Given the description of an element on the screen output the (x, y) to click on. 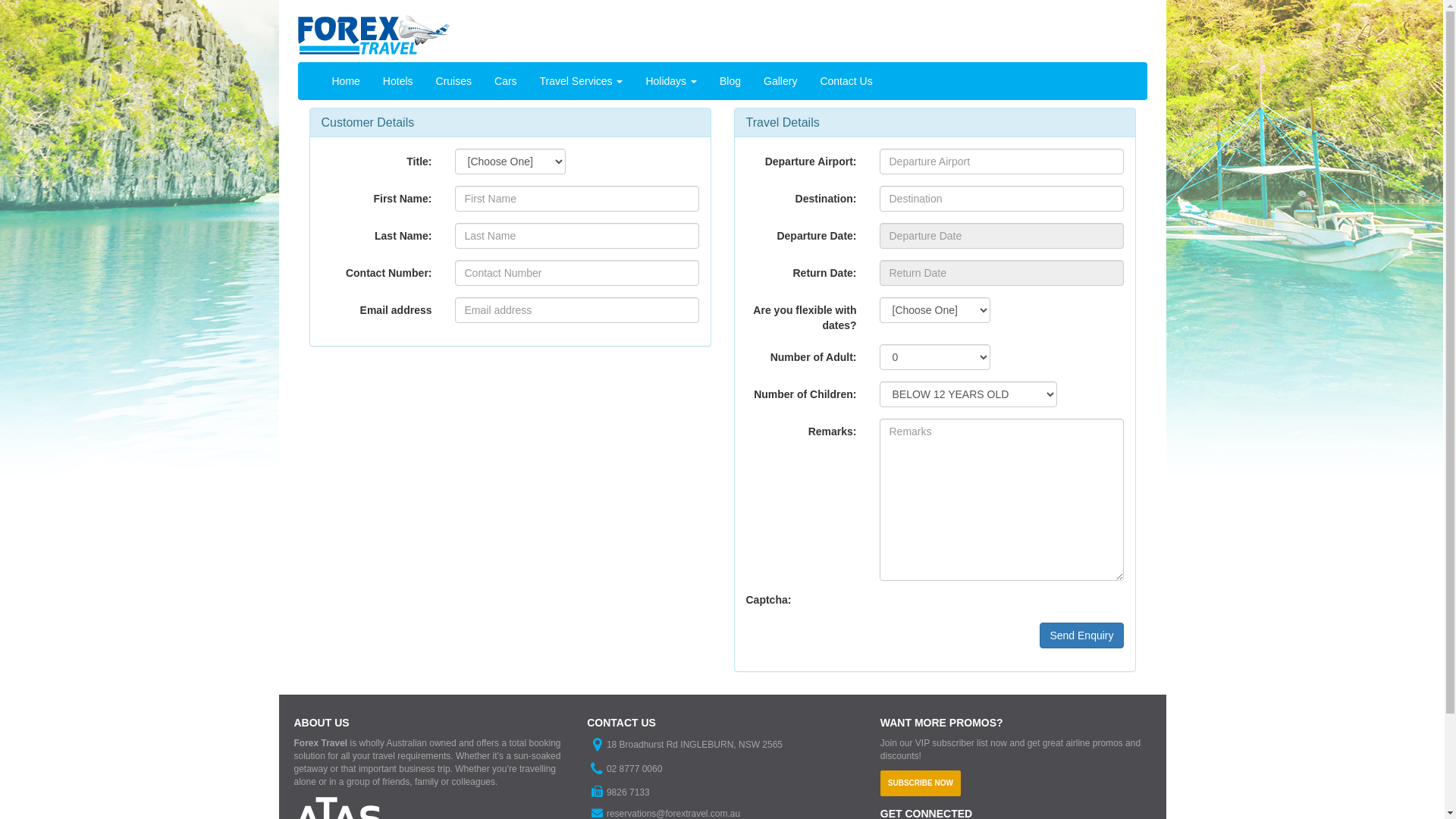
Hotels Element type: text (397, 81)
Contact Us Element type: text (845, 81)
Holidays Element type: text (670, 81)
Home Element type: text (345, 81)
Cars Element type: text (505, 81)
Gallery Element type: text (780, 81)
Send Enquiry Element type: text (1081, 635)
Blog Element type: text (730, 81)
Cruises Element type: text (453, 81)
Travel Services Element type: text (581, 81)
